Given the description of an element on the screen output the (x, y) to click on. 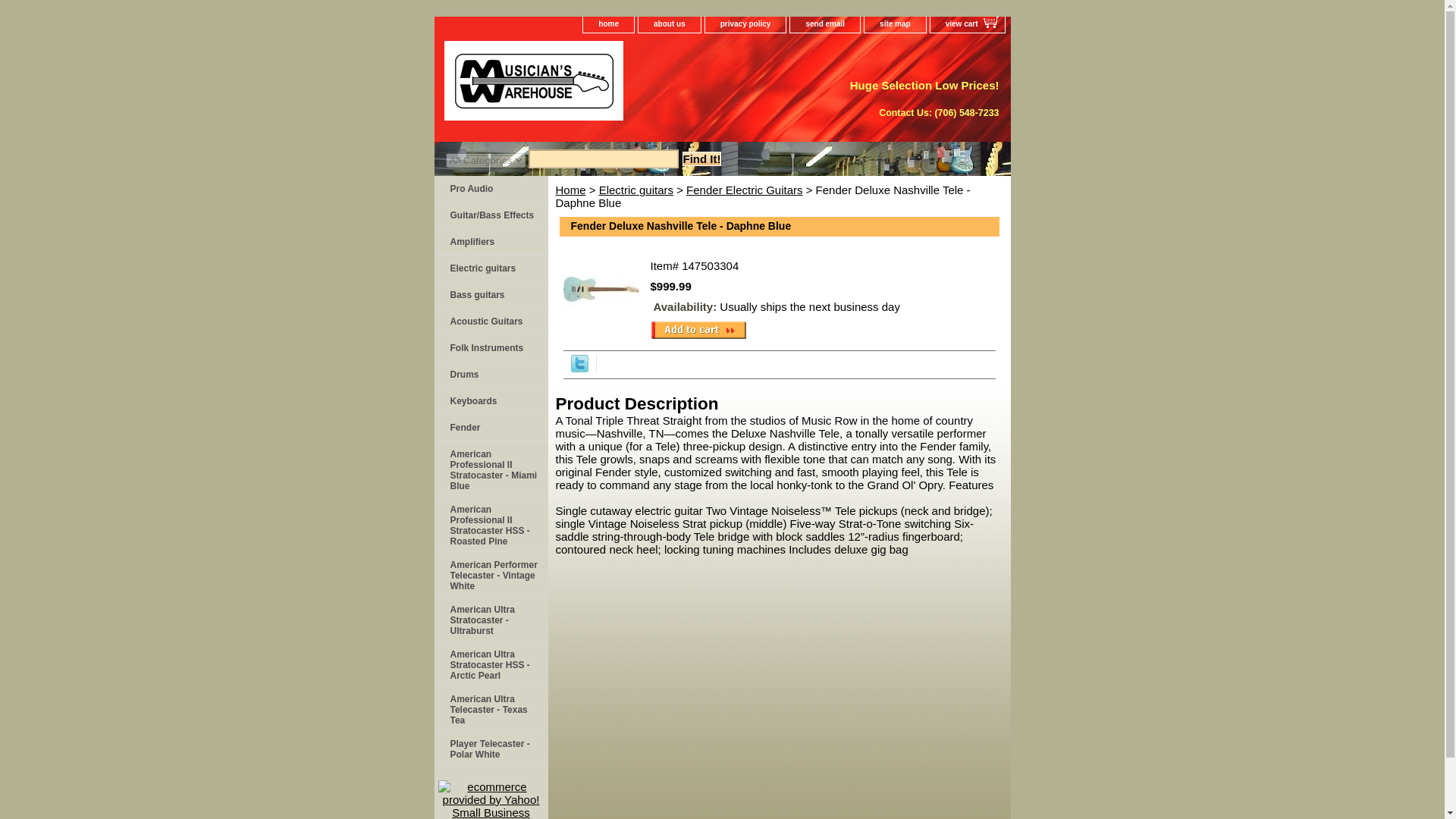
Electric guitars (490, 268)
Acoustic Guitars (490, 321)
Add to cart (697, 330)
Player Telecaster - Polar White (490, 747)
Drums (490, 374)
Find It! (702, 158)
Find It! (702, 158)
American Professional II Stratocaster - Miami Blue (490, 468)
American Professional II Stratocaster HSS - Roasted Pine (490, 524)
Keyboards (490, 401)
Fender (490, 427)
Fender Electric Guitars (743, 189)
American Professional II Stratocaster HSS - Roasted Pine (490, 524)
The Musician's Warehouse (622, 85)
Home (569, 189)
